Given the description of an element on the screen output the (x, y) to click on. 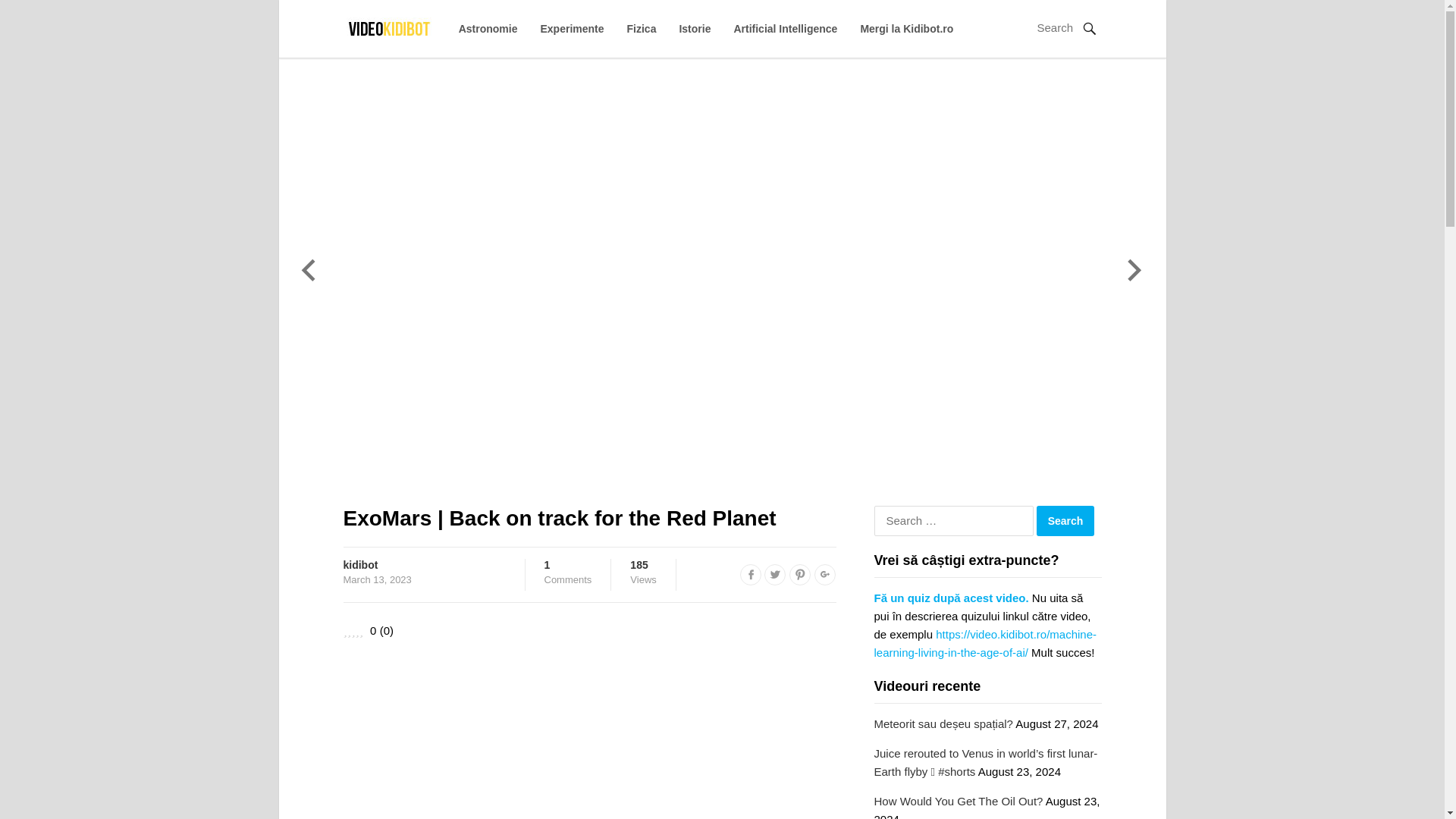
Share on Facebook (750, 574)
Search (1065, 521)
kidibot (359, 564)
Artificial Intelligence (785, 28)
Experimente (572, 28)
Astronomie (568, 572)
Mergi la Kidibot.ro (488, 28)
Share on Pinterest (906, 28)
Search (799, 574)
